Given the description of an element on the screen output the (x, y) to click on. 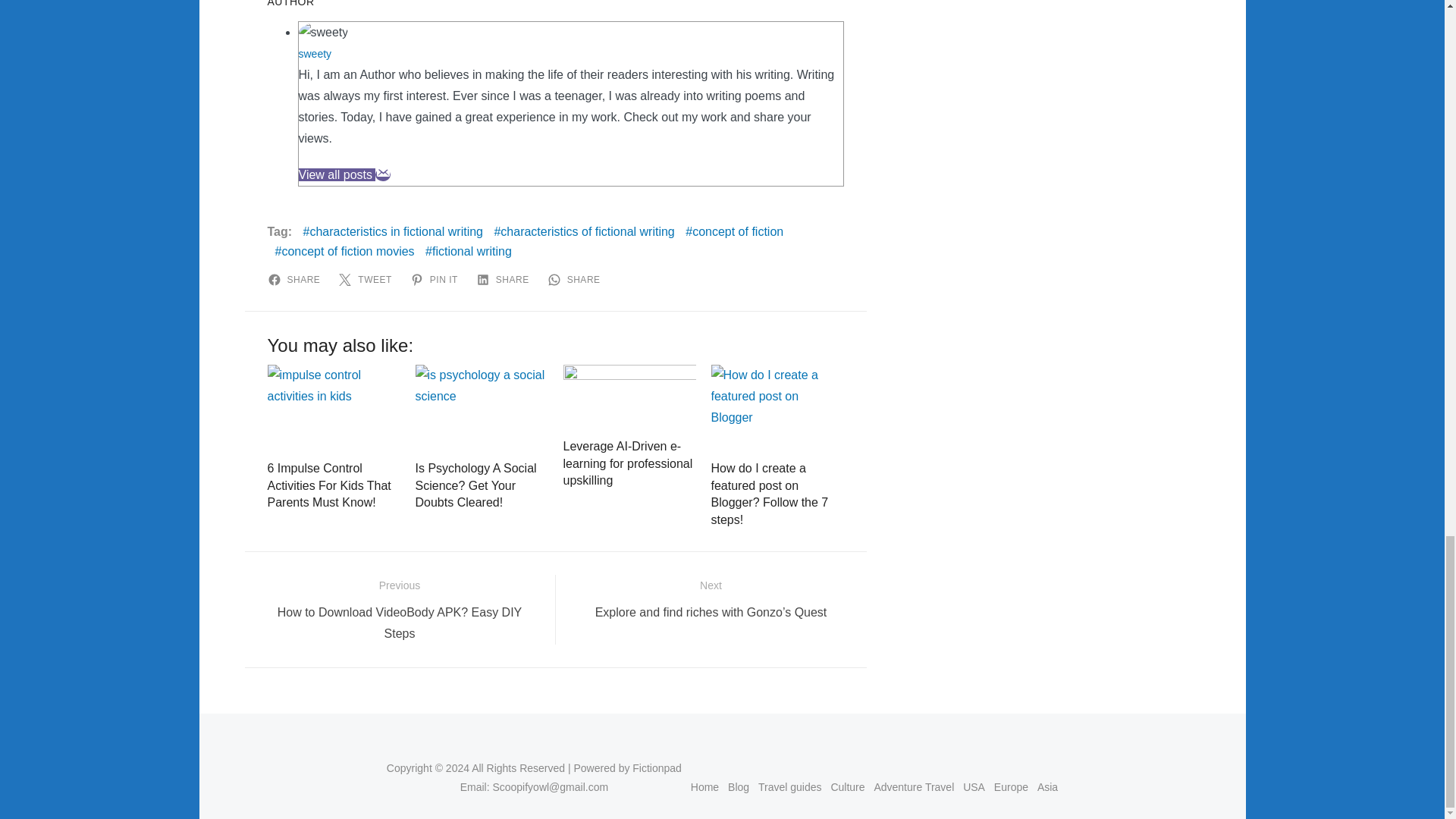
Share on WhatsApp (577, 279)
Share on Pinterest (437, 279)
Share on Twitter (367, 279)
Share on LinkedIn (505, 279)
concept of fiction (734, 232)
View all posts (336, 174)
sweety (314, 53)
sweety (314, 53)
Share on Facebook (296, 279)
characteristics in fictional writing (392, 232)
characteristics of fictional writing (583, 232)
View all posts (336, 174)
